Given the description of an element on the screen output the (x, y) to click on. 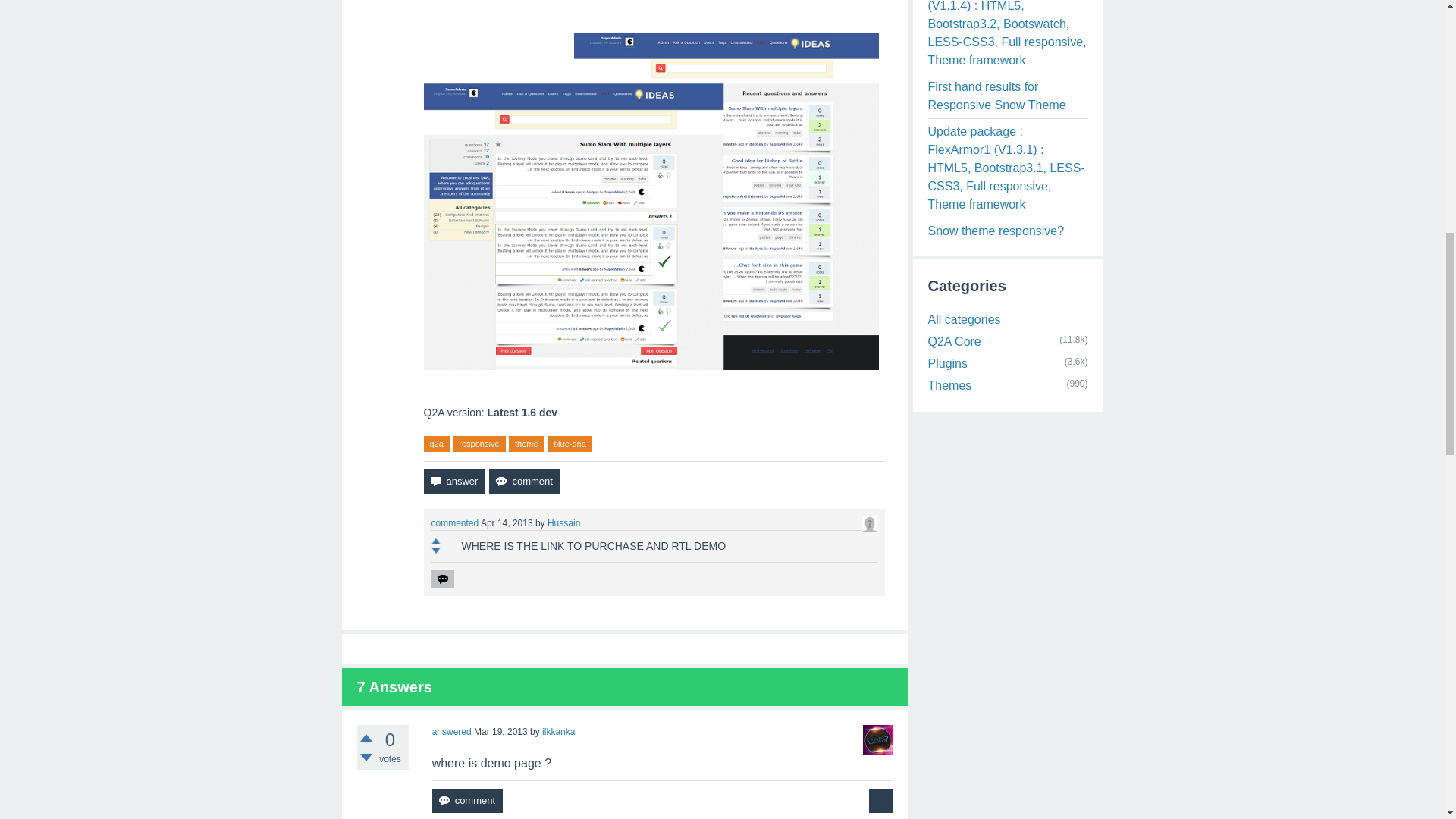
commented (454, 522)
reply (441, 579)
comment (467, 800)
comment (524, 481)
Add a comment on this question (524, 481)
Click to vote up (365, 737)
comment (524, 481)
Reply to this comment (441, 579)
reply (441, 579)
Answer this question (453, 481)
Add a comment on this answer (467, 800)
q2a (435, 443)
answer (453, 481)
Click to vote down (365, 757)
answer (453, 481)
